Given the description of an element on the screen output the (x, y) to click on. 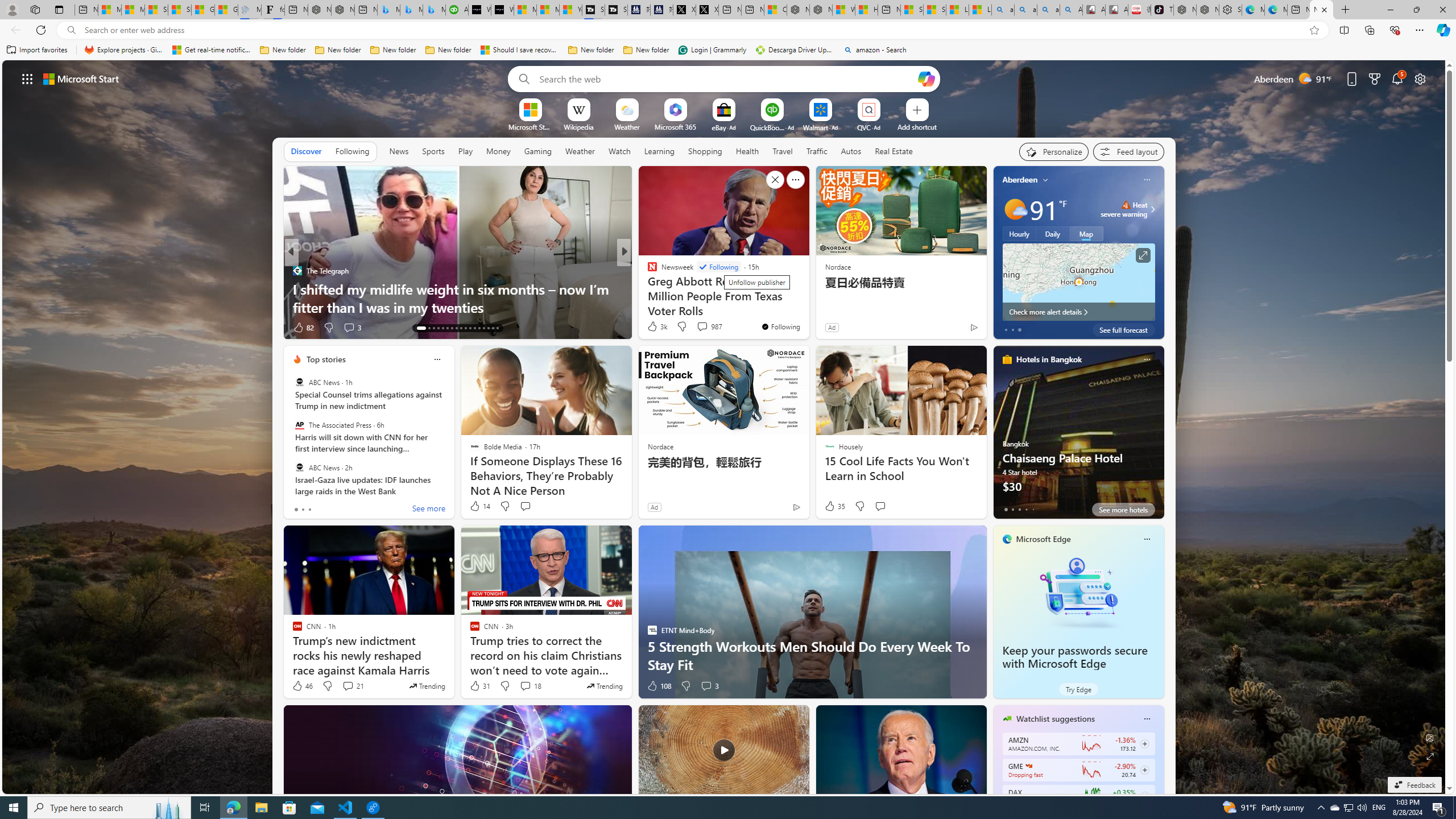
AutomationID: tab-26 (483, 328)
35 Like (834, 505)
Hide this story (774, 179)
AutomationID: tab-18 (446, 328)
View comments 85 Comment (704, 327)
432 Like (654, 327)
Learning (659, 151)
View comments 1 Comment (698, 327)
Accounting Software for Accountants, CPAs and Bookkeepers (457, 9)
